Given the description of an element on the screen output the (x, y) to click on. 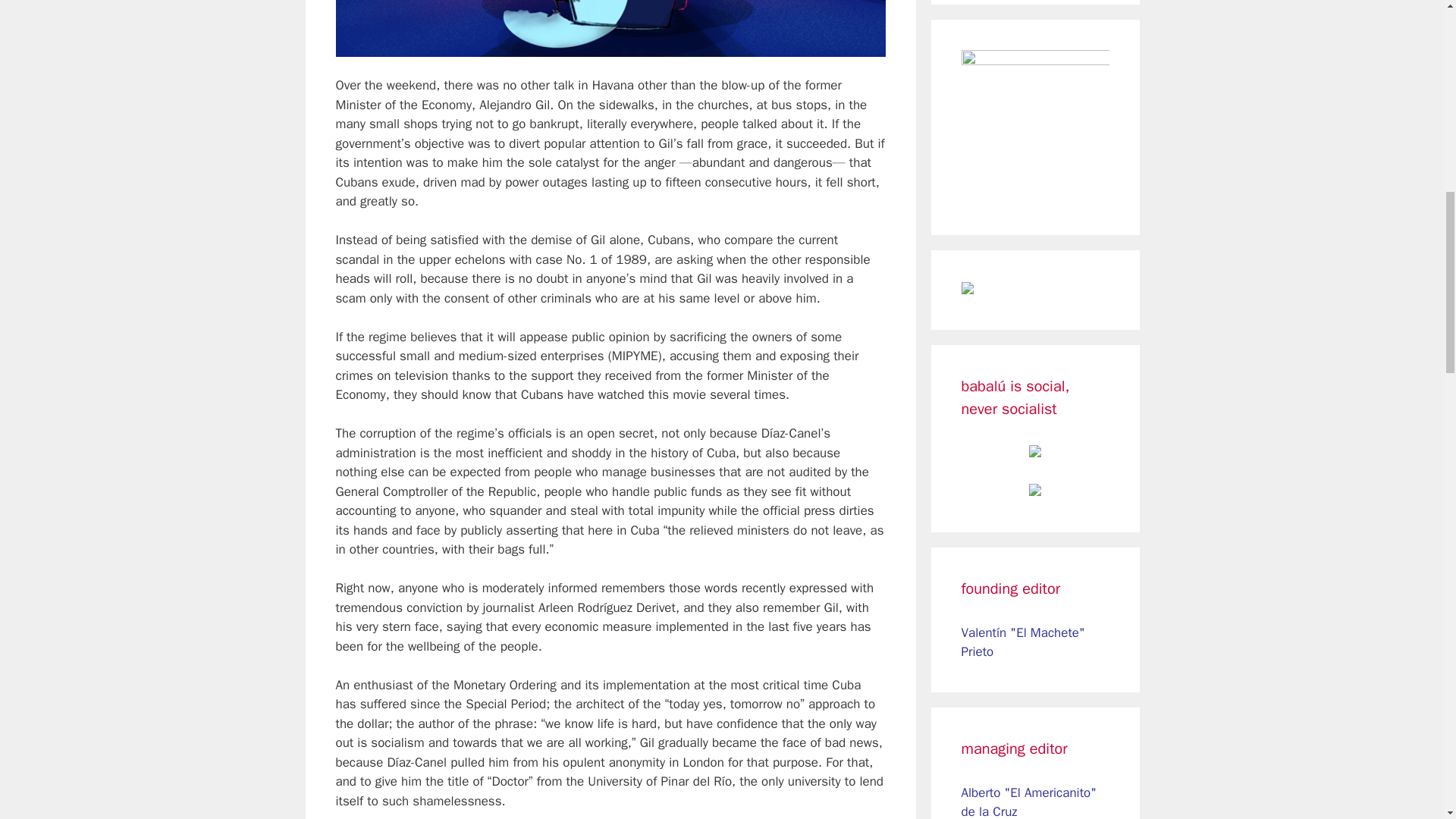
Alberto "El Americanito" de la Cruz (1028, 801)
